Given the description of an element on the screen output the (x, y) to click on. 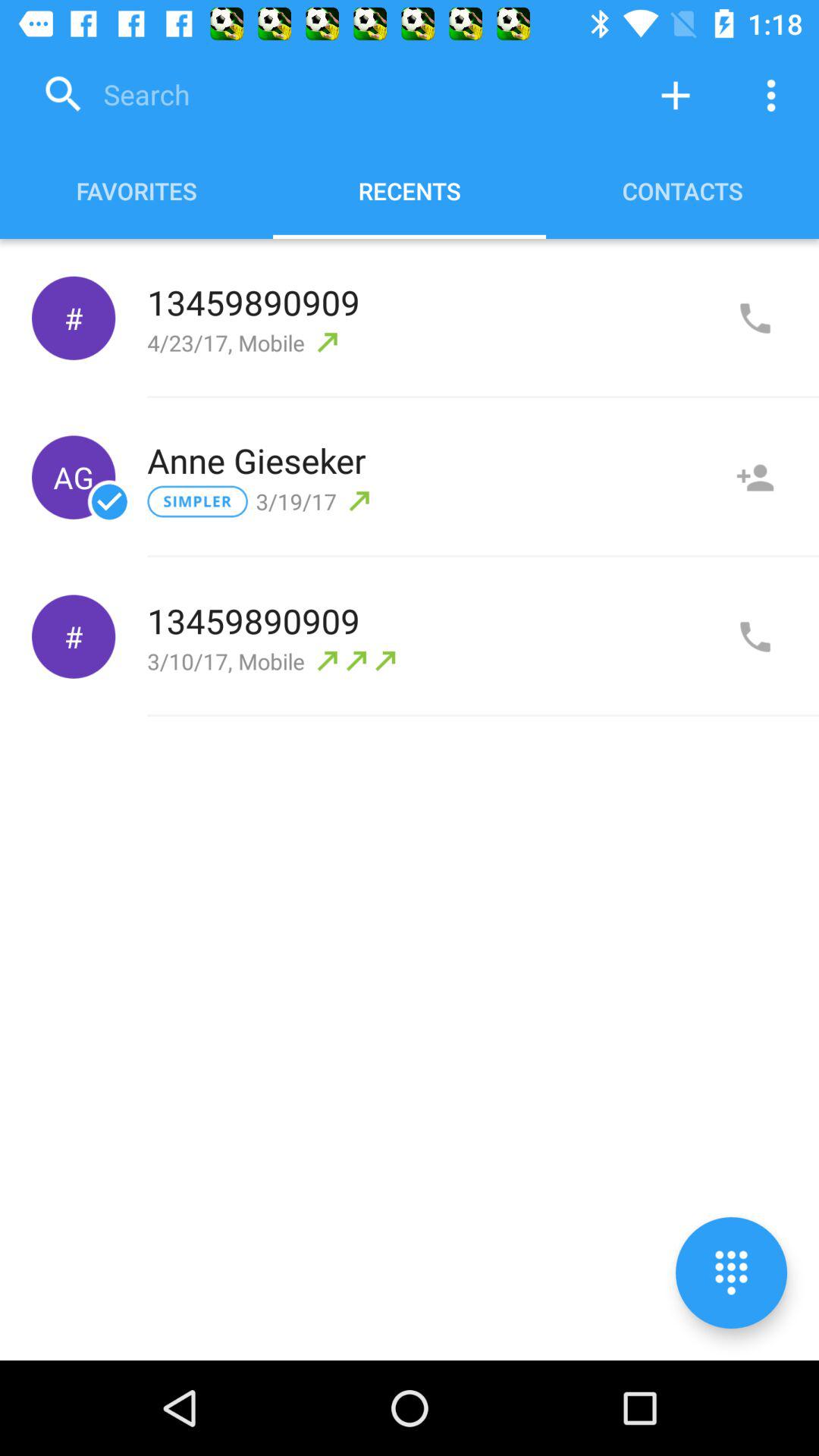
calling option (755, 636)
